Given the description of an element on the screen output the (x, y) to click on. 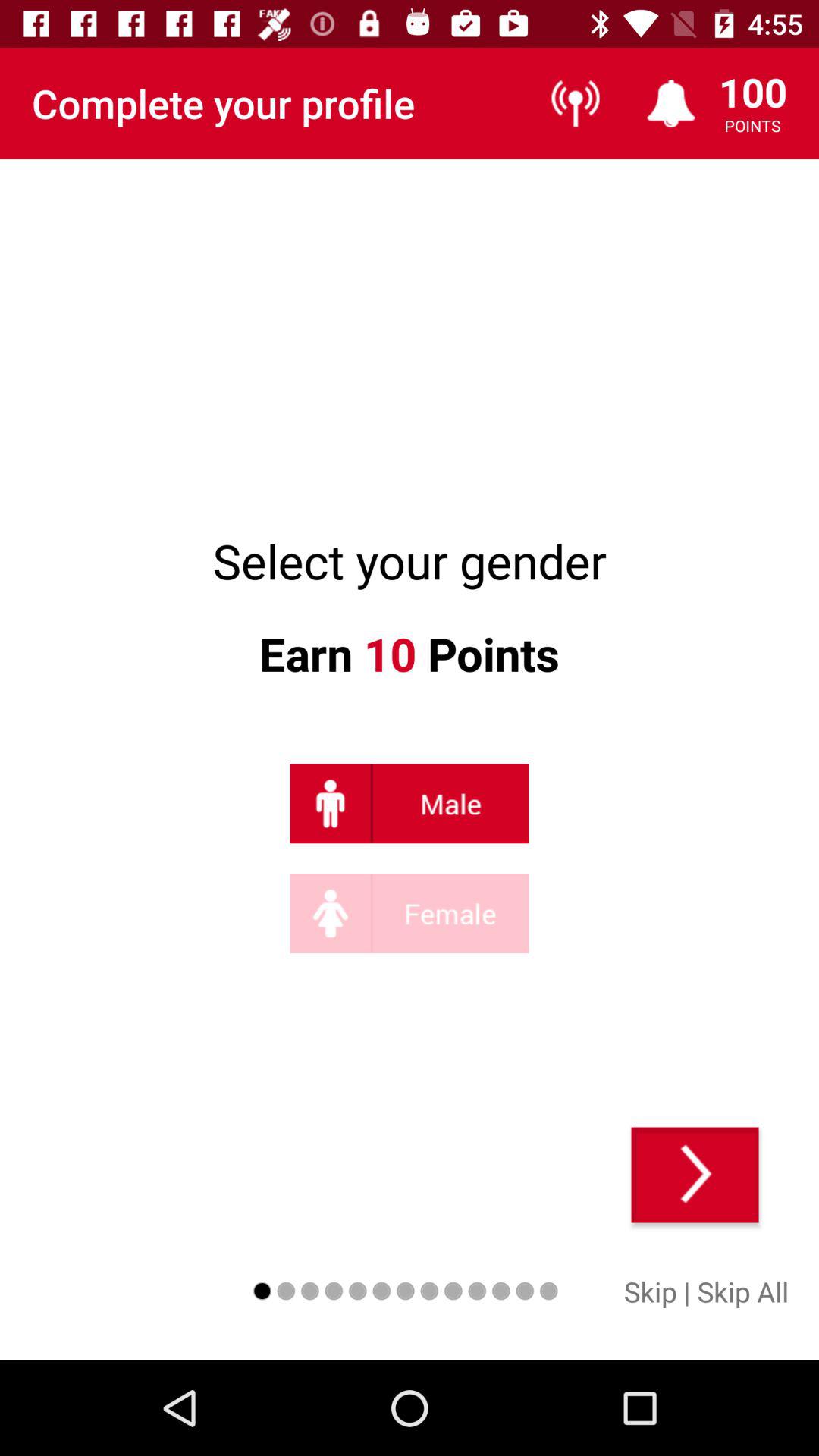
female button (409, 913)
